Given the description of an element on the screen output the (x, y) to click on. 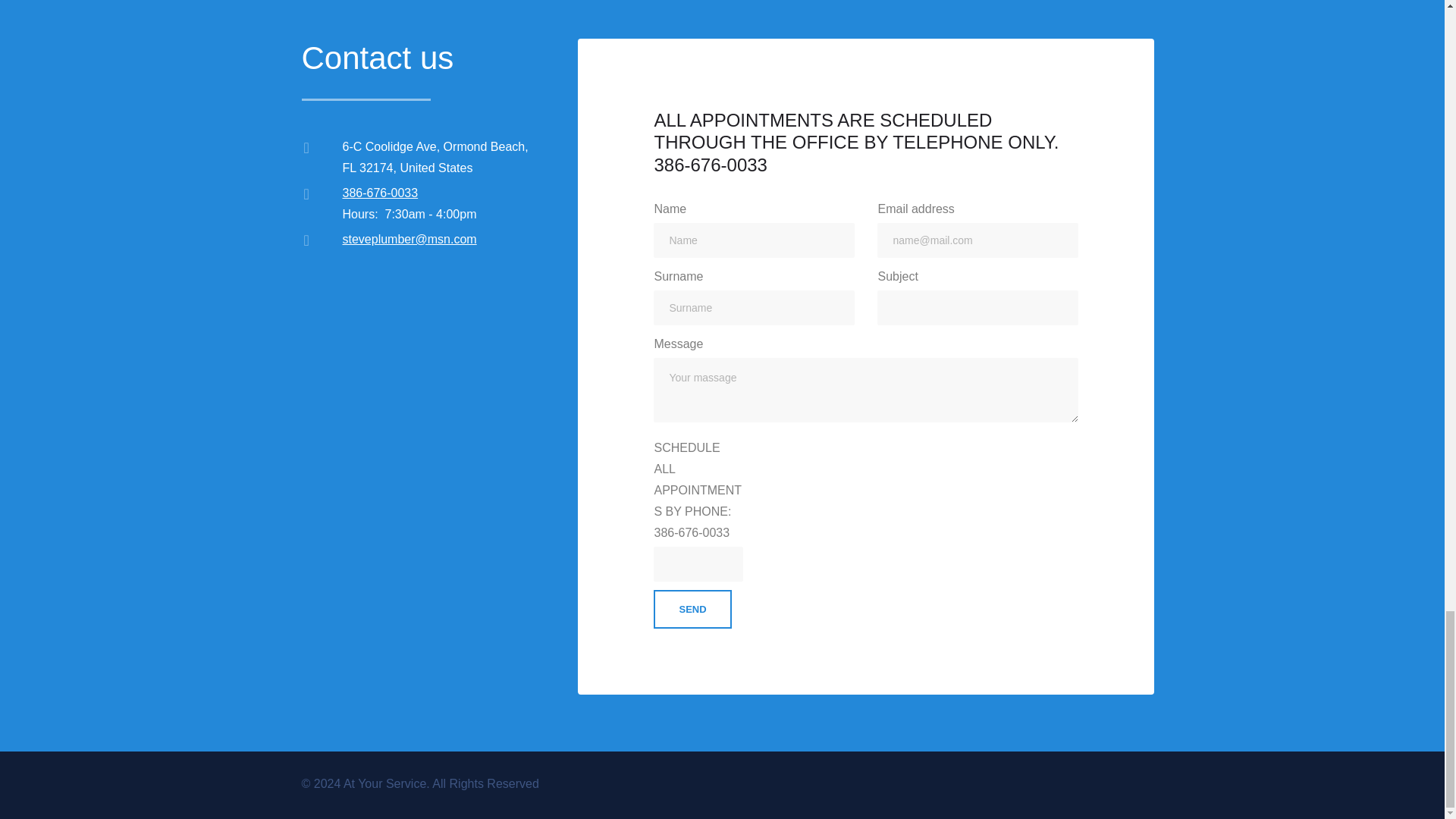
SEND (691, 608)
386-676-0033 (380, 192)
